Given the description of an element on the screen output the (x, y) to click on. 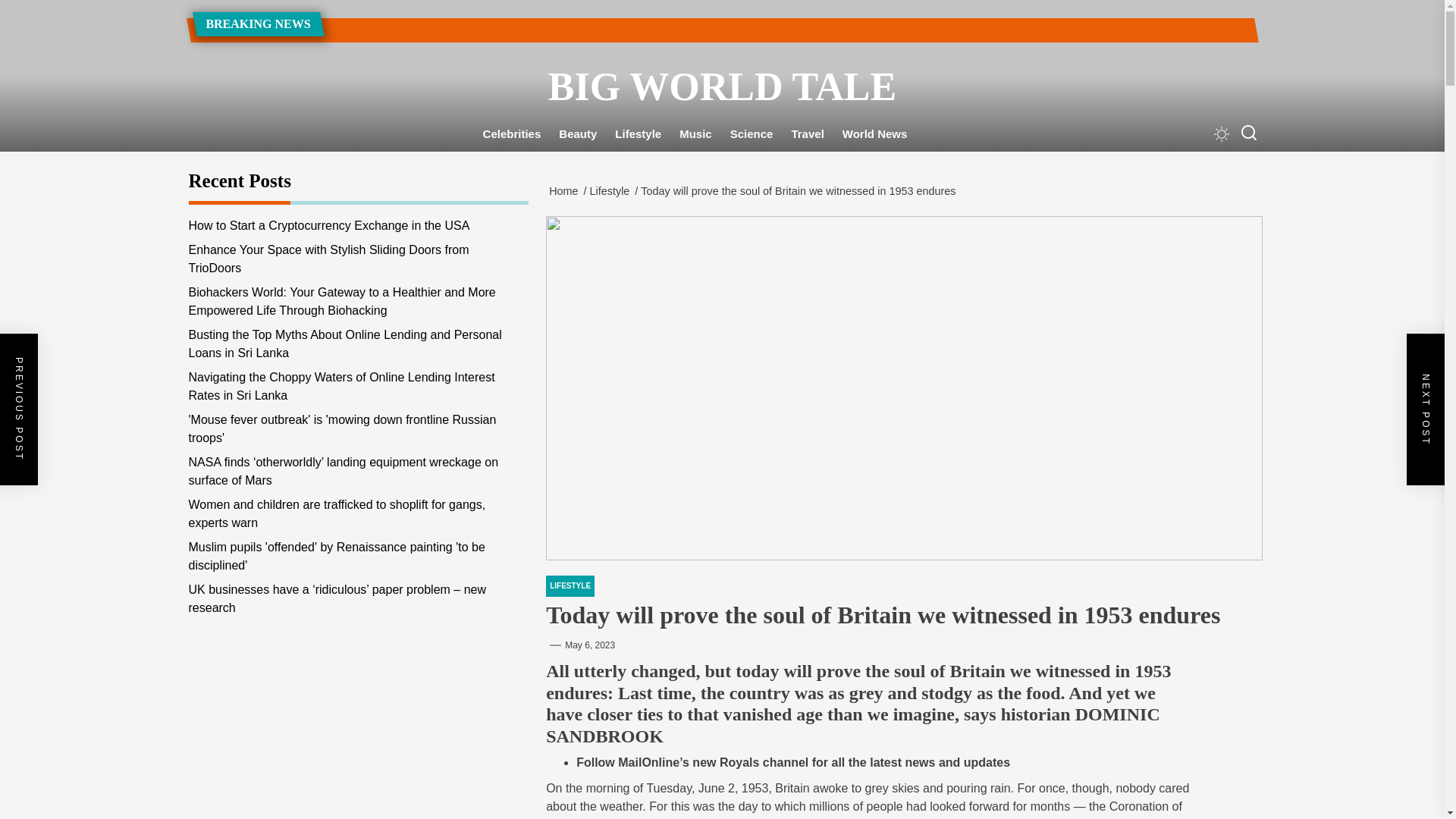
May 6, 2023 (589, 644)
Lifestyle (612, 191)
Music (694, 134)
Lifestyle (637, 134)
LIFESTYLE (570, 586)
Home (566, 191)
Science (751, 134)
Beauty (577, 134)
Celebrities (512, 134)
BIG WORLD TALE (721, 86)
